Given the description of an element on the screen output the (x, y) to click on. 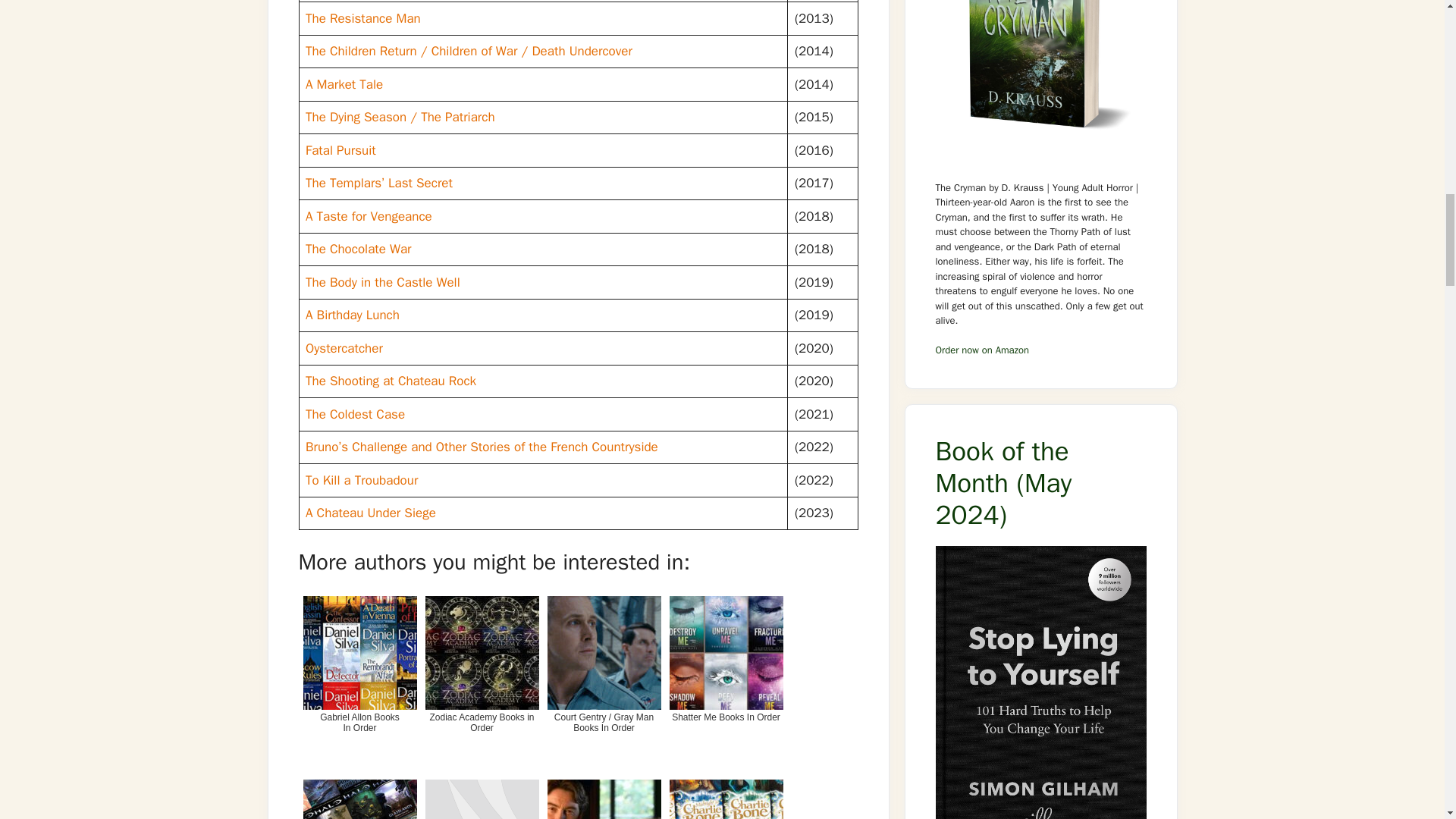
The Resistance Man (362, 18)
The Body in the Castle Well (382, 282)
A Taste for Vengeance (368, 216)
The Shooting at Chateau Rock (390, 381)
The Chocolate War (358, 248)
Oystercatcher (343, 348)
A Birthday Lunch (351, 314)
A Chateau Under Siege (370, 512)
Fatal Pursuit (340, 150)
To Kill a Troubadour (361, 480)
